Given the description of an element on the screen output the (x, y) to click on. 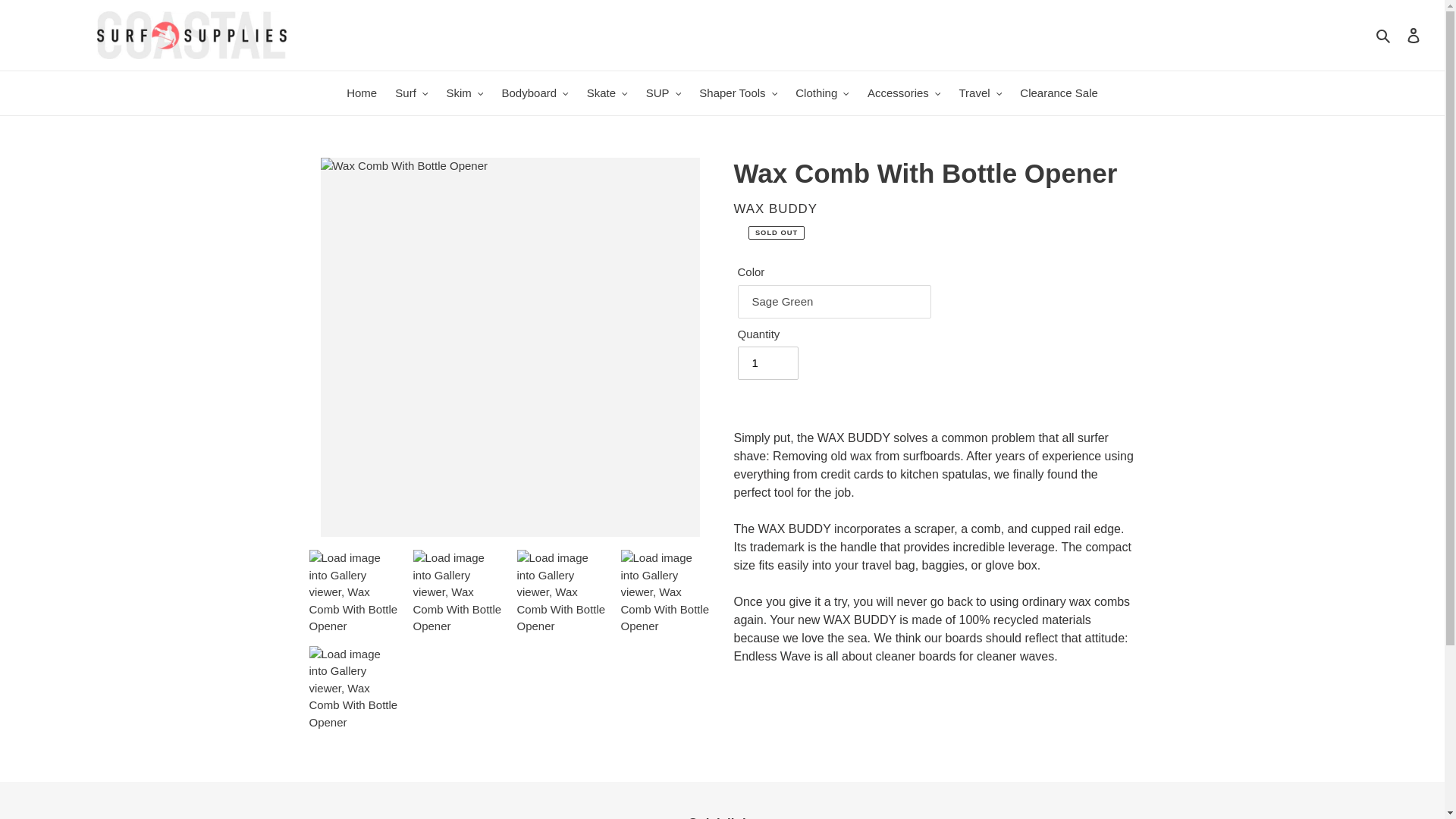
Search (1384, 35)
Log in (1413, 34)
1 (766, 363)
